Given the description of an element on the screen output the (x, y) to click on. 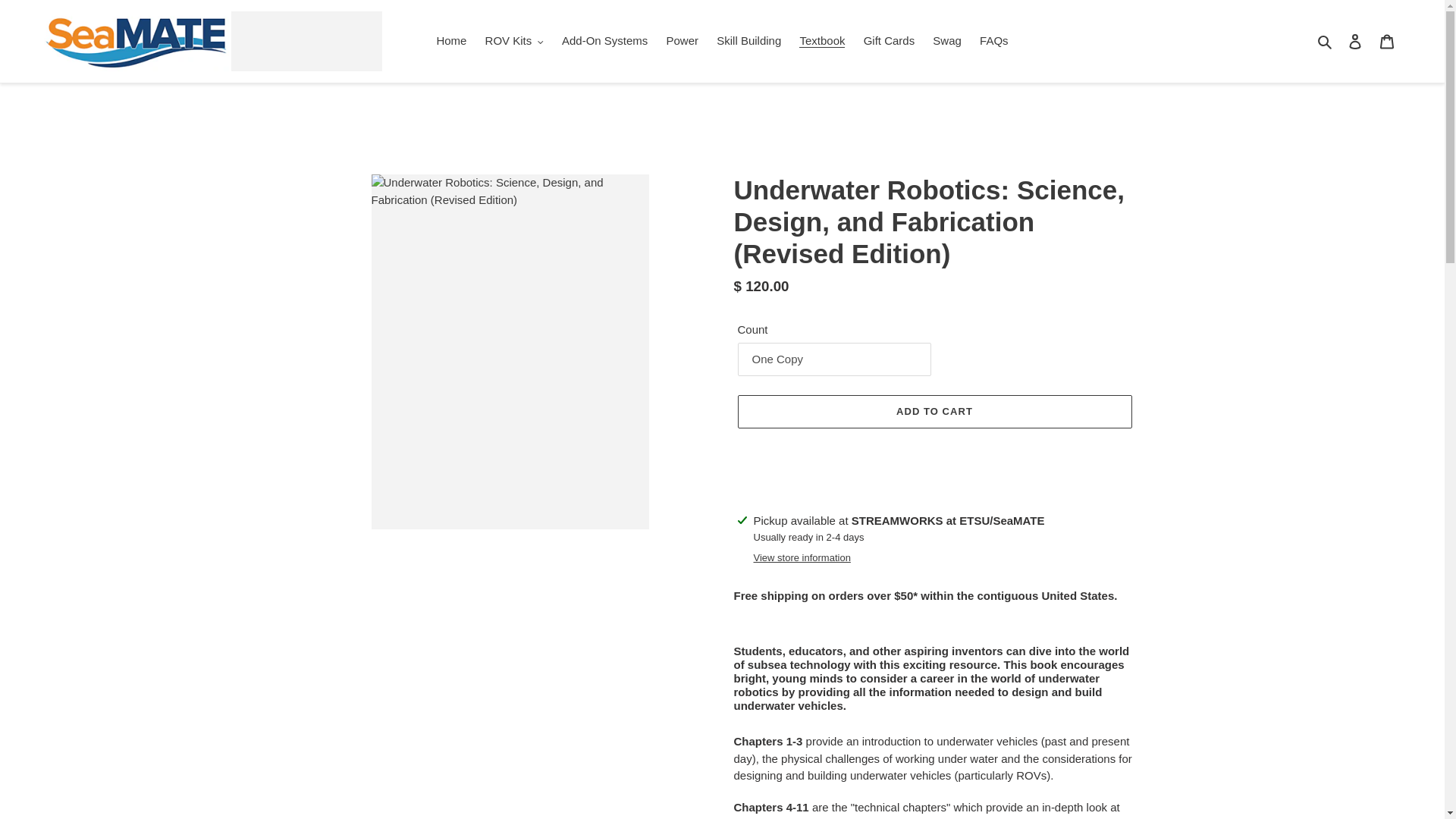
Gift Cards (889, 41)
Log in (1355, 41)
Add-On Systems (604, 41)
FAQs (994, 41)
Search (1326, 40)
ROV Kits (514, 41)
Textbook (821, 41)
Cart (1387, 41)
ADD TO CART (933, 411)
Power (682, 41)
Home (451, 41)
Skill Building (749, 41)
Swag (946, 41)
